Given the description of an element on the screen output the (x, y) to click on. 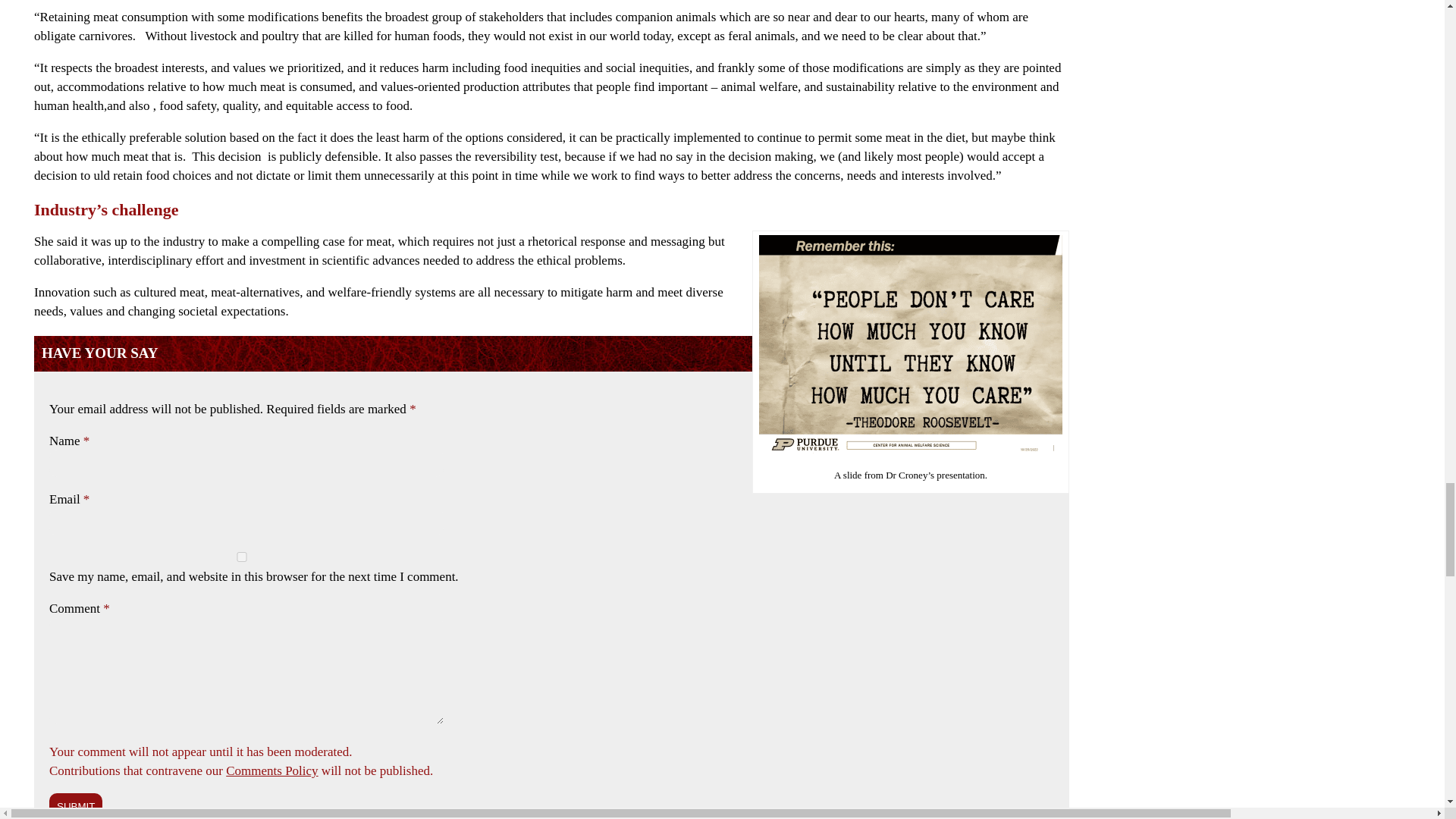
SUBMIT (75, 806)
yes (241, 556)
